Given the description of an element on the screen output the (x, y) to click on. 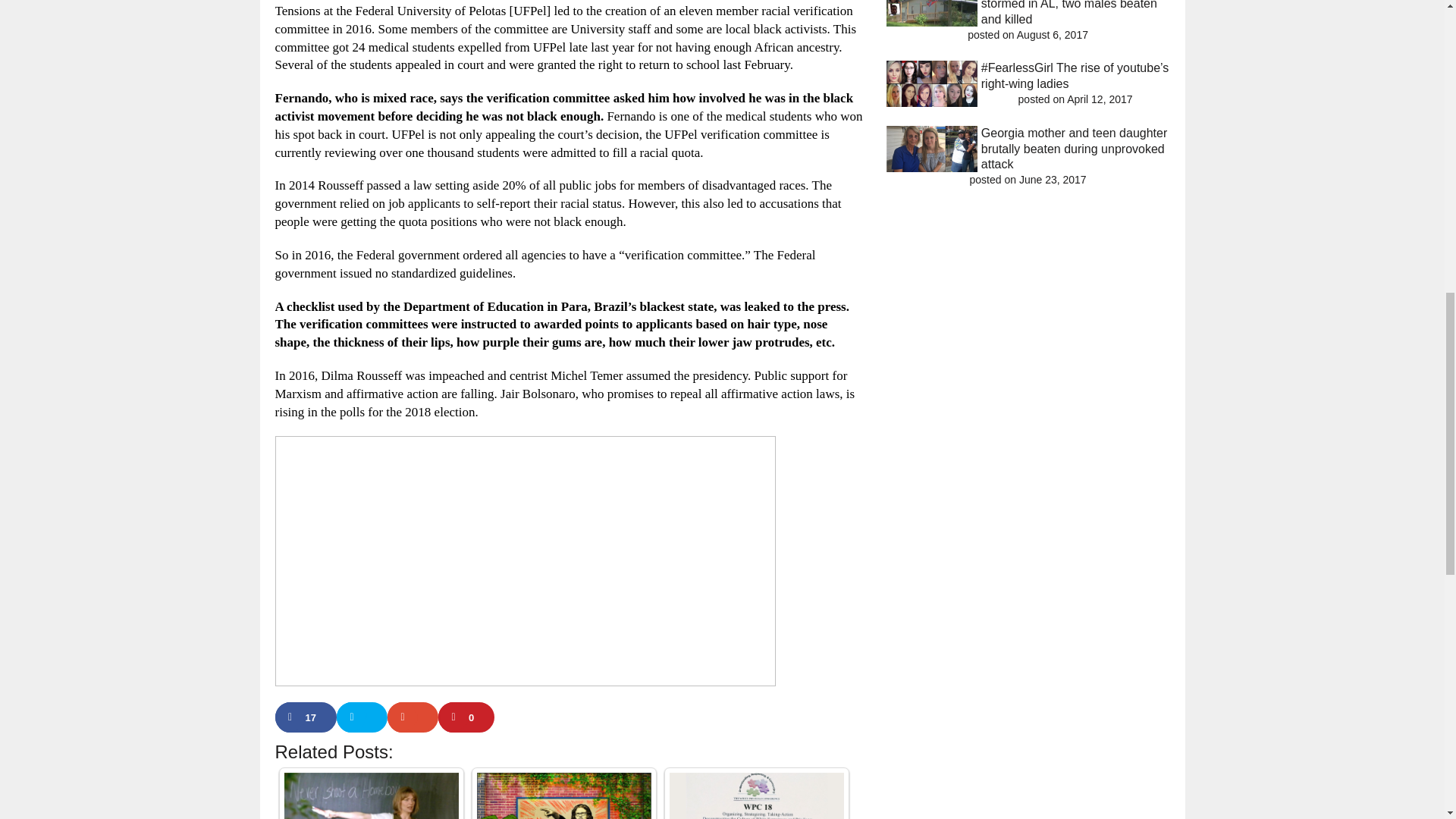
0 (466, 716)
17 (305, 716)
